Given the description of an element on the screen output the (x, y) to click on. 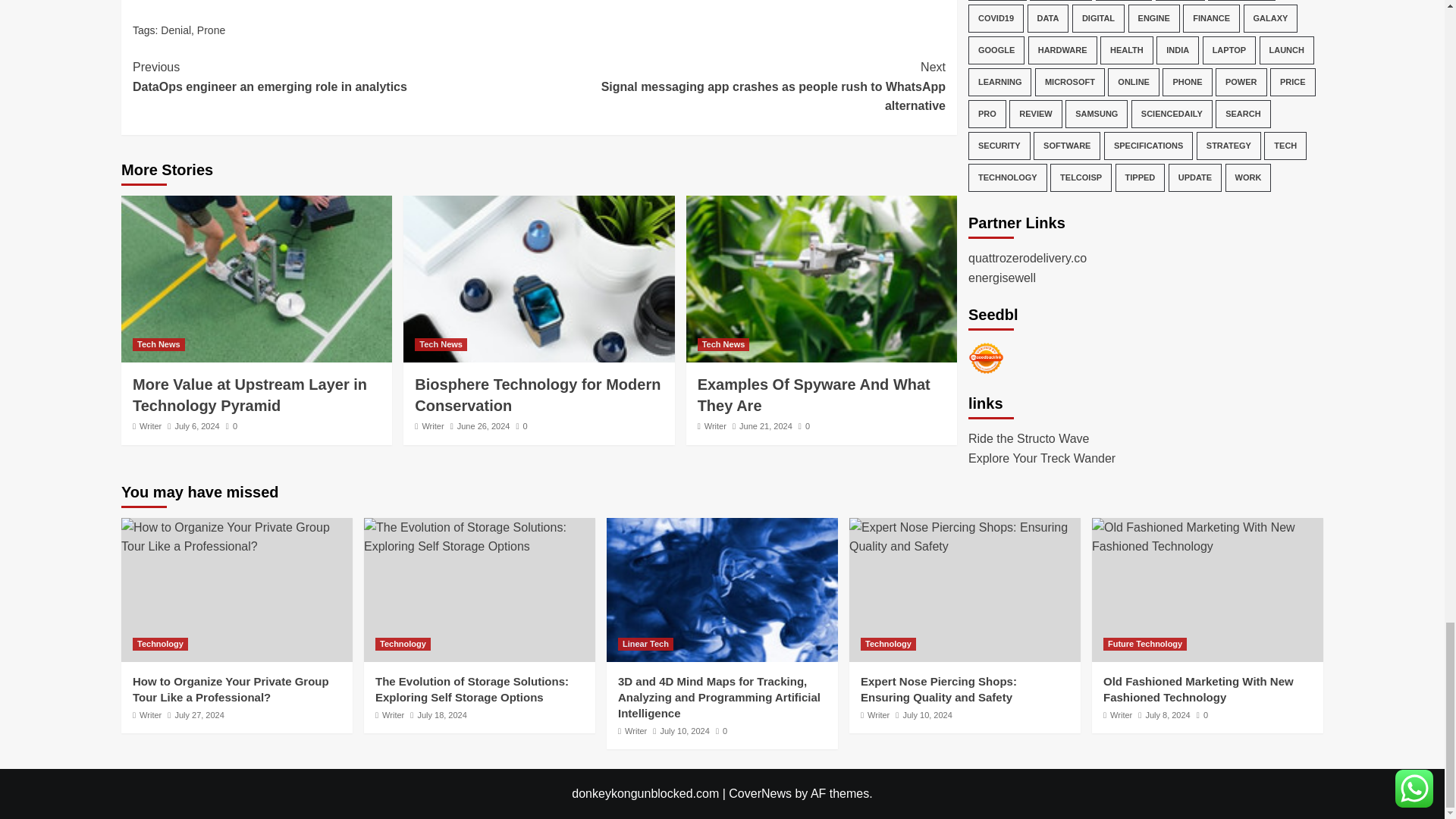
Denial (175, 30)
More Value at Upstream Layer in Technology Pyramid (255, 278)
0 (231, 425)
Biosphere Technology for Modern Conservation (538, 278)
Tech News (158, 344)
Prone (210, 30)
More Value at Upstream Layer in Technology Pyramid (249, 394)
Examples Of Spyware And What They Are (335, 76)
